Given the description of an element on the screen output the (x, y) to click on. 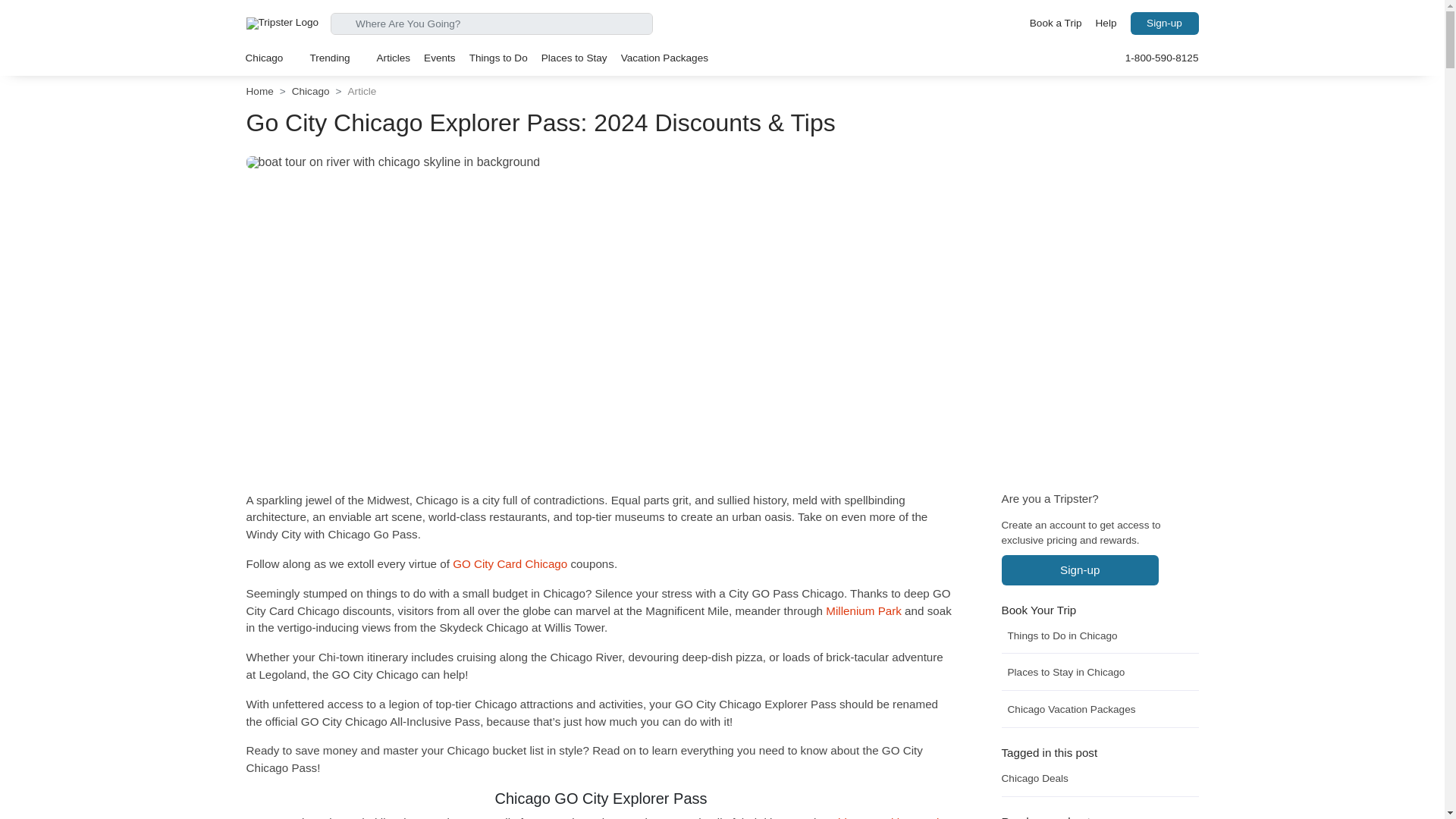
Book a Trip (1056, 23)
Sign-up (1163, 23)
Trending (335, 57)
Chicago (270, 57)
Help (1106, 23)
